Given the description of an element on the screen output the (x, y) to click on. 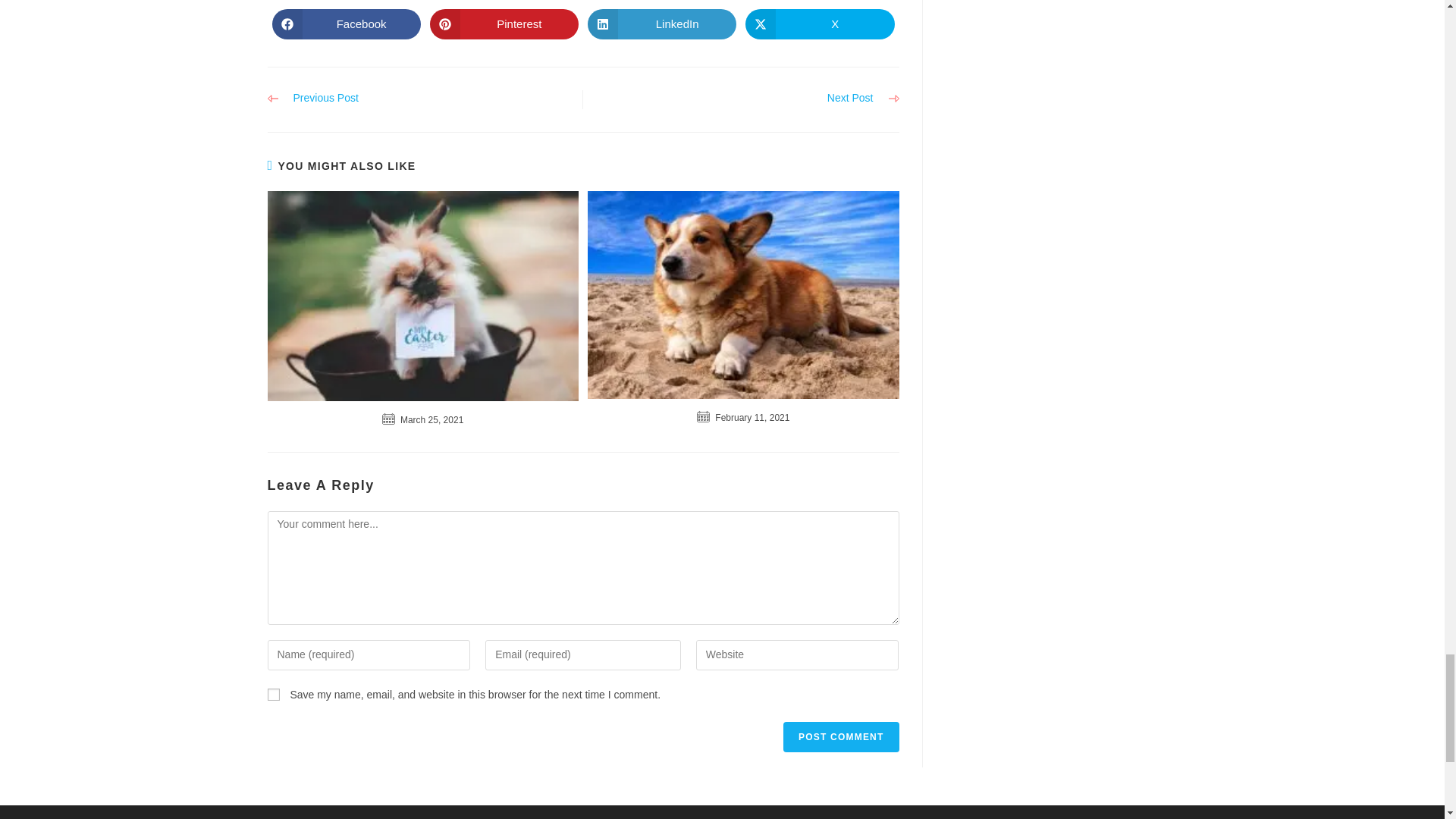
yes (272, 694)
Post Comment (840, 736)
service dog (422, 295)
service dog (743, 294)
